Given the description of an element on the screen output the (x, y) to click on. 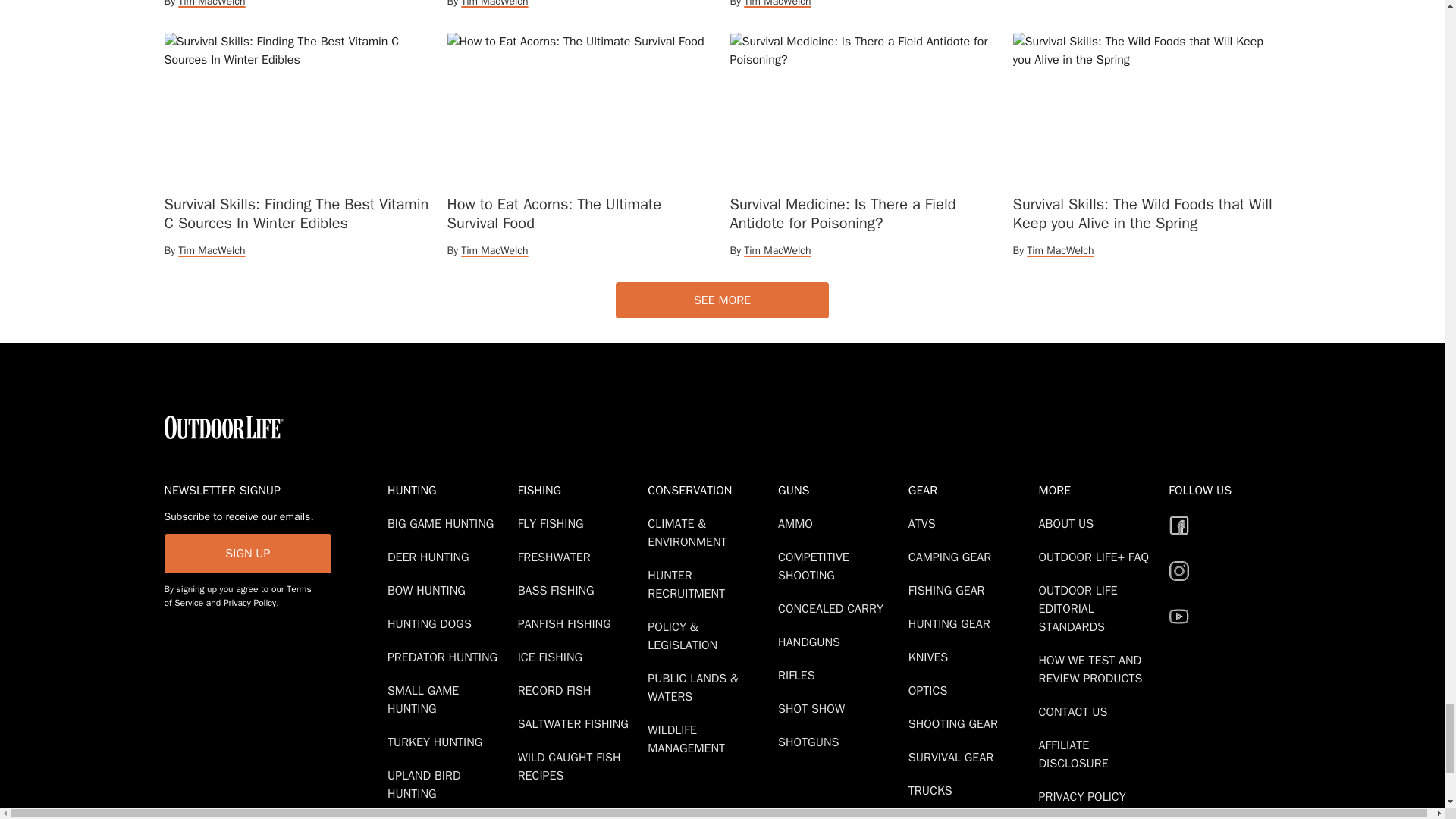
Deer Hunting (431, 557)
Fly Fishing (553, 523)
Big Game Hunting (443, 523)
Fishing (580, 490)
Hunting (449, 490)
Conservation (709, 490)
